Given the description of an element on the screen output the (x, y) to click on. 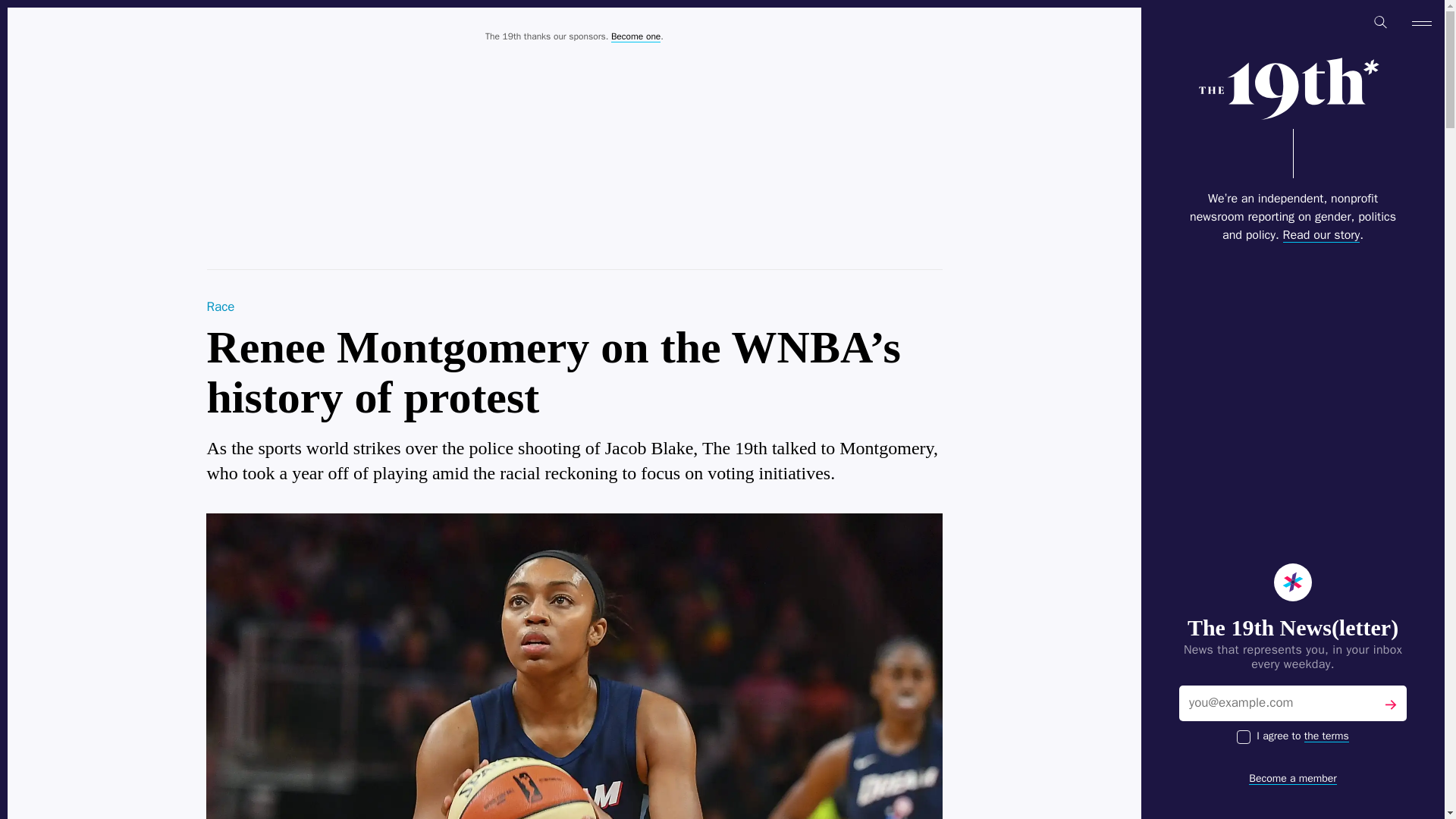
on (1243, 736)
